Given the description of an element on the screen output the (x, y) to click on. 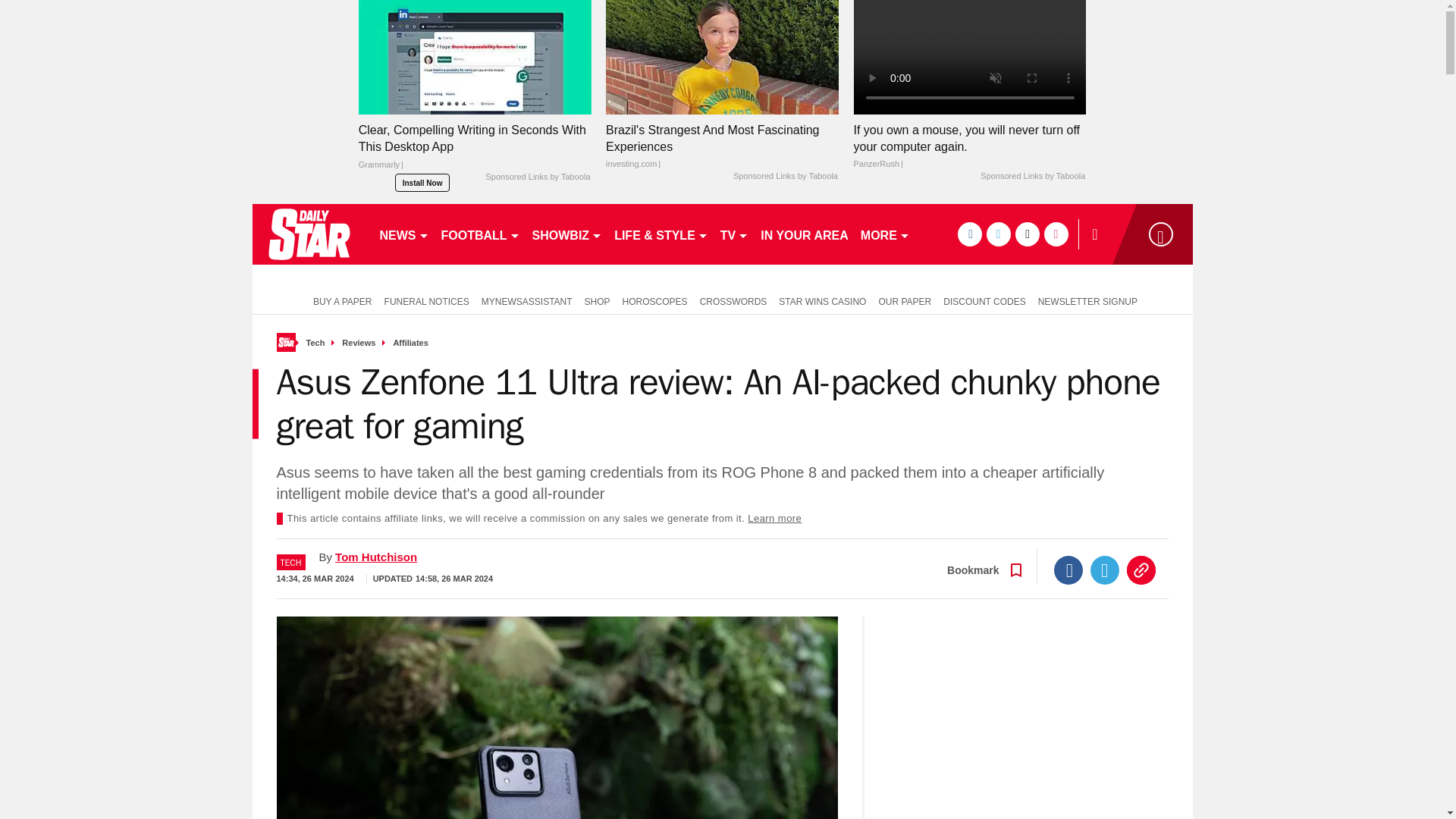
Brazil's Strangest And Most Fascinating Experiences (721, 146)
Sponsored Links by Taboola (536, 176)
NEWS (402, 233)
Clear, Compelling Writing in Seconds With This Desktop App (474, 151)
Sponsored Links by Taboola (785, 176)
SHOWBIZ (566, 233)
Clear, Compelling Writing in Seconds With This Desktop App (474, 57)
Sponsored Links by Taboola (1031, 176)
instagram (1055, 233)
Facebook (1068, 570)
Twitter (1104, 570)
facebook (968, 233)
Brazil's Strangest And Most Fascinating Experiences (721, 57)
